Given the description of an element on the screen output the (x, y) to click on. 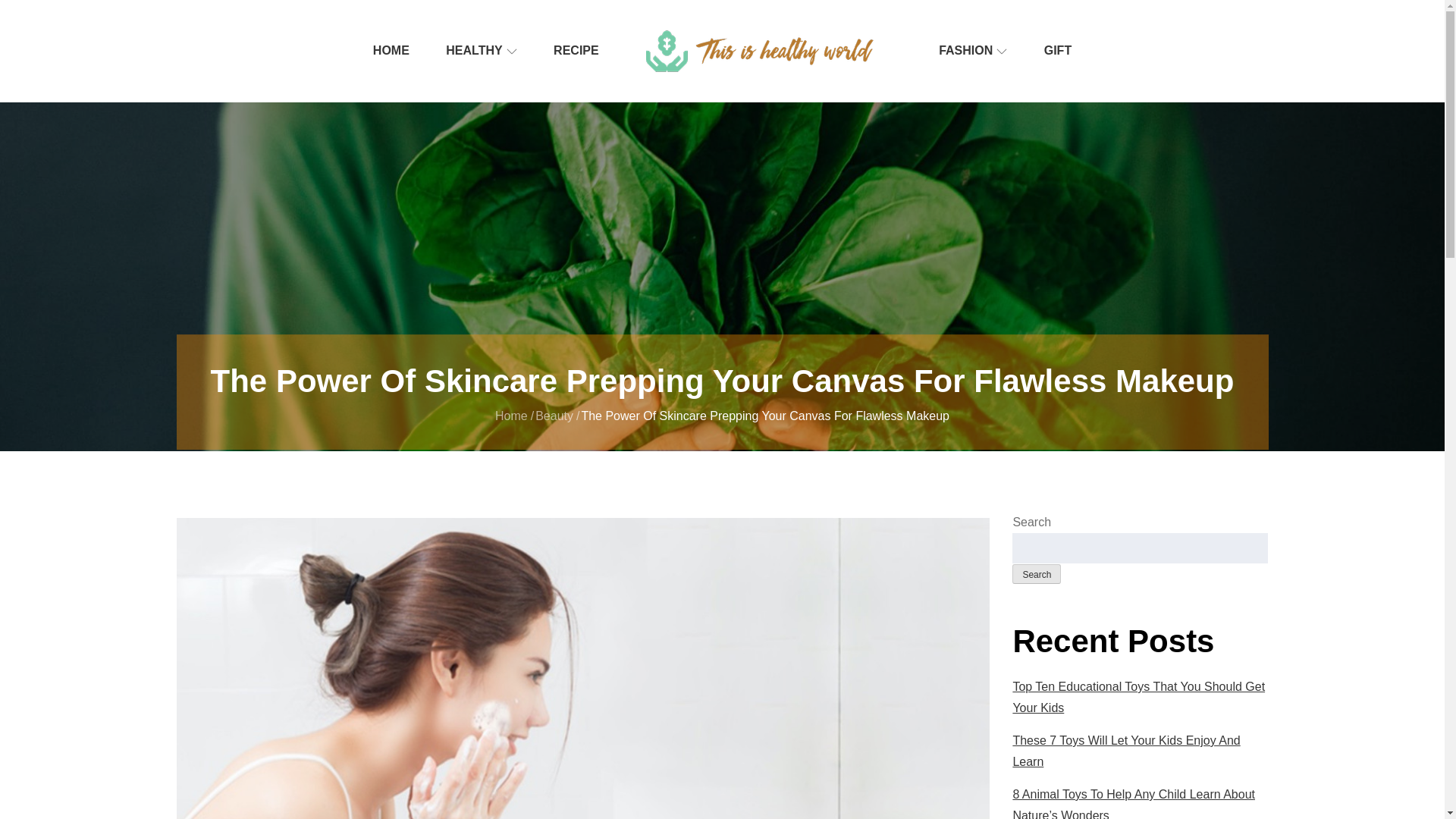
RECIPE (576, 50)
HOME (391, 50)
HEALTHY (480, 50)
Beauty (554, 415)
GIFT (1057, 50)
FASHION (972, 50)
Home (511, 415)
